Given the description of an element on the screen output the (x, y) to click on. 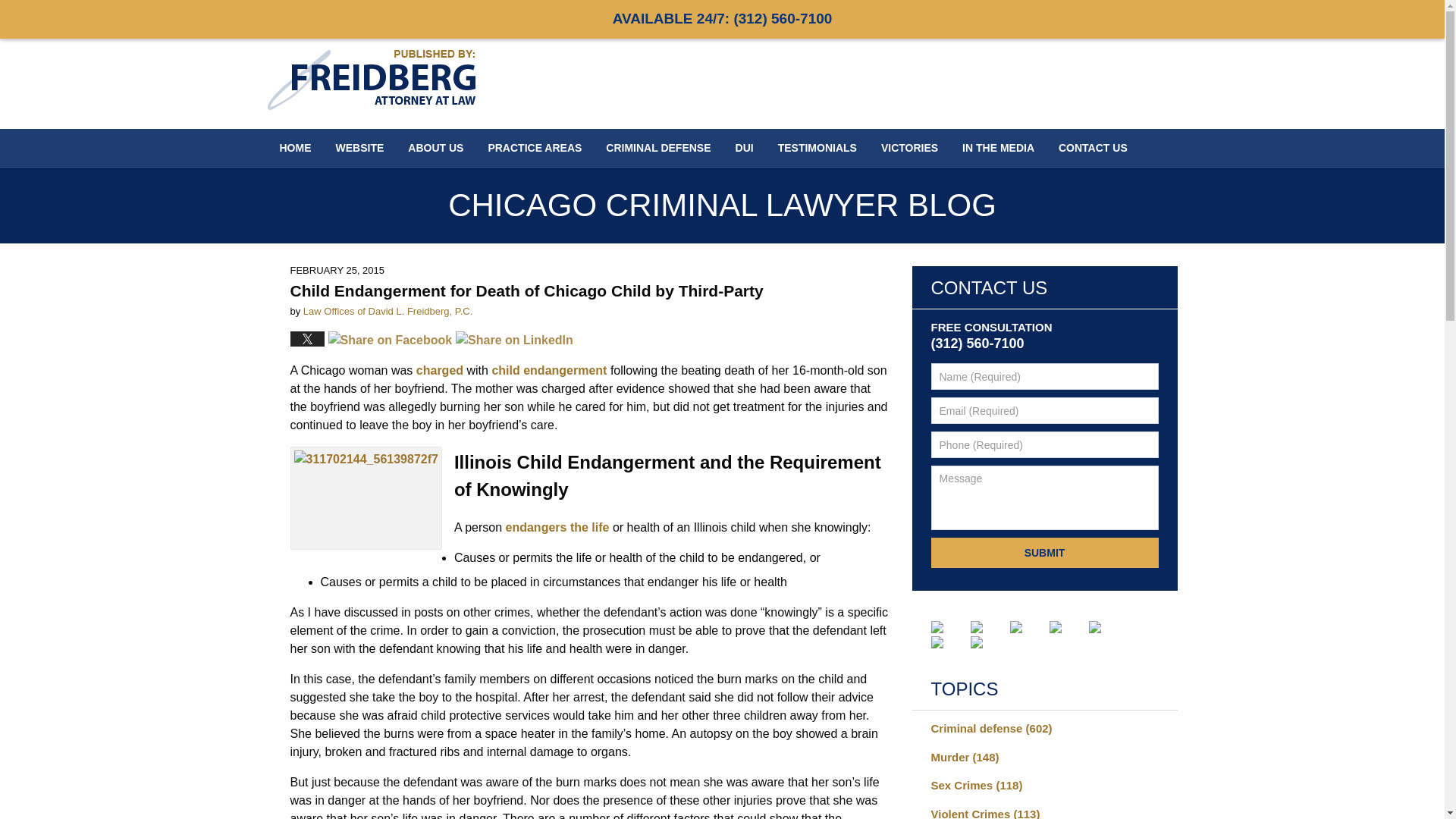
LinkedIn (1028, 626)
ABOUT US (436, 147)
endangers the life (557, 526)
charged (439, 369)
Chicago Criminal Lawyer Blog (370, 79)
Please enter a valid phone number. (1044, 444)
PRACTICE AREAS (535, 147)
Twitter (989, 626)
CHICAGO CRIMINAL LAWYER BLOG (721, 205)
HOME (294, 147)
